Given the description of an element on the screen output the (x, y) to click on. 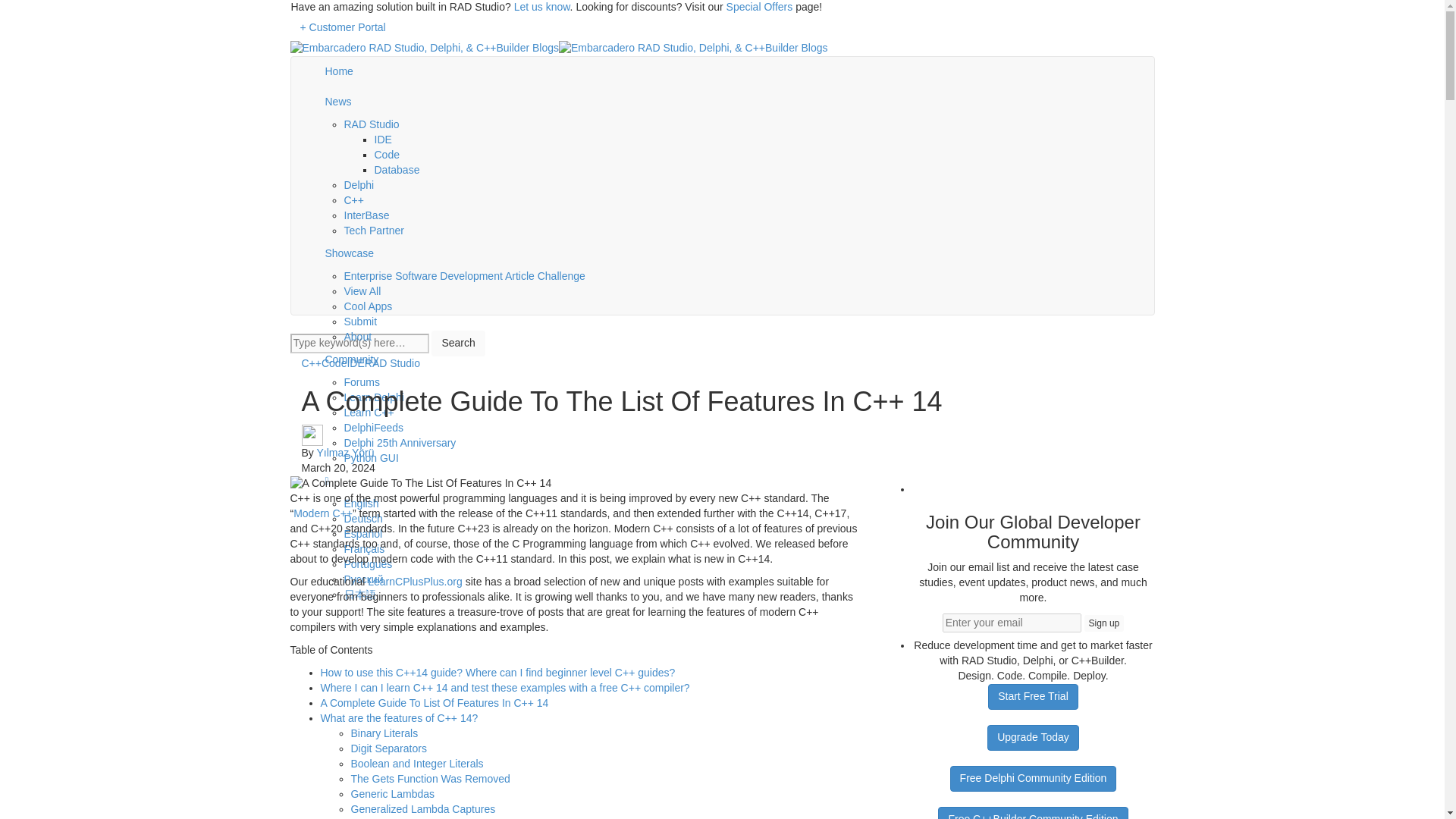
Generic Lambdas (391, 793)
View All (362, 291)
The Gets Function Was Removed (429, 778)
Search (457, 343)
Boolean and Integer Literals (416, 763)
Home (735, 71)
RAD Studio (370, 123)
Generalized Lambda Captures (422, 808)
Submit (360, 321)
